Given the description of an element on the screen output the (x, y) to click on. 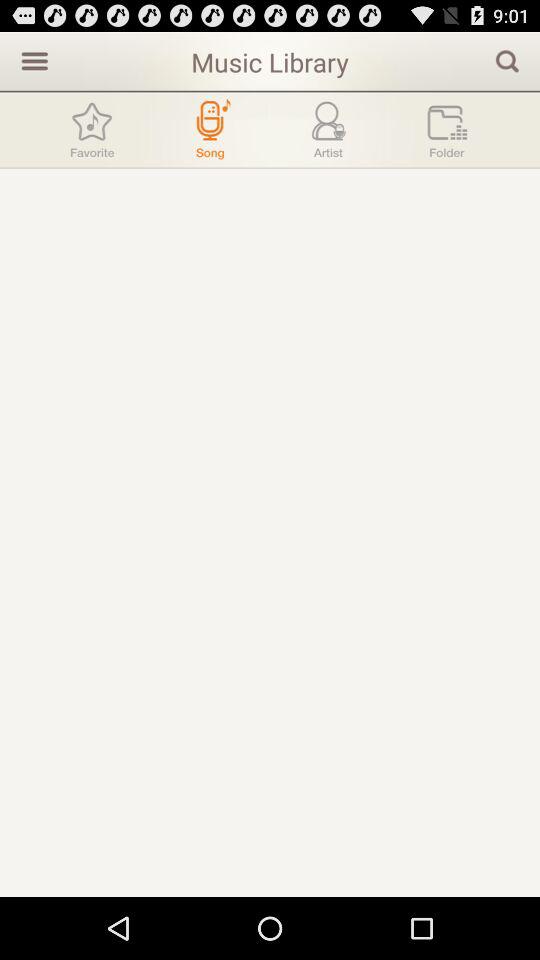
press item next to the music library (507, 60)
